Given the description of an element on the screen output the (x, y) to click on. 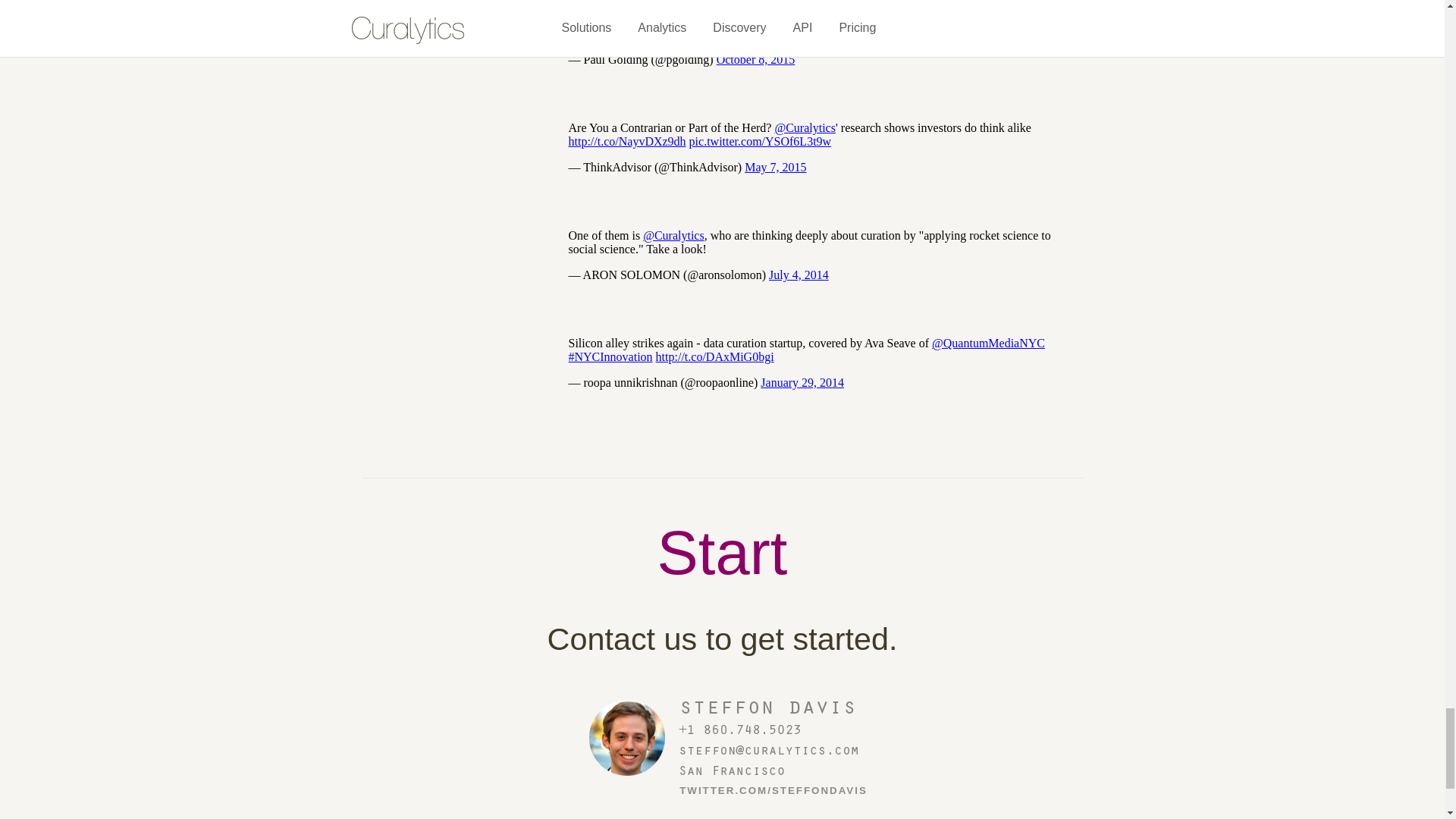
January 29, 2014 (802, 382)
May 7, 2015 (775, 166)
July 4, 2014 (798, 274)
October 8, 2015 (755, 59)
